Given the description of an element on the screen output the (x, y) to click on. 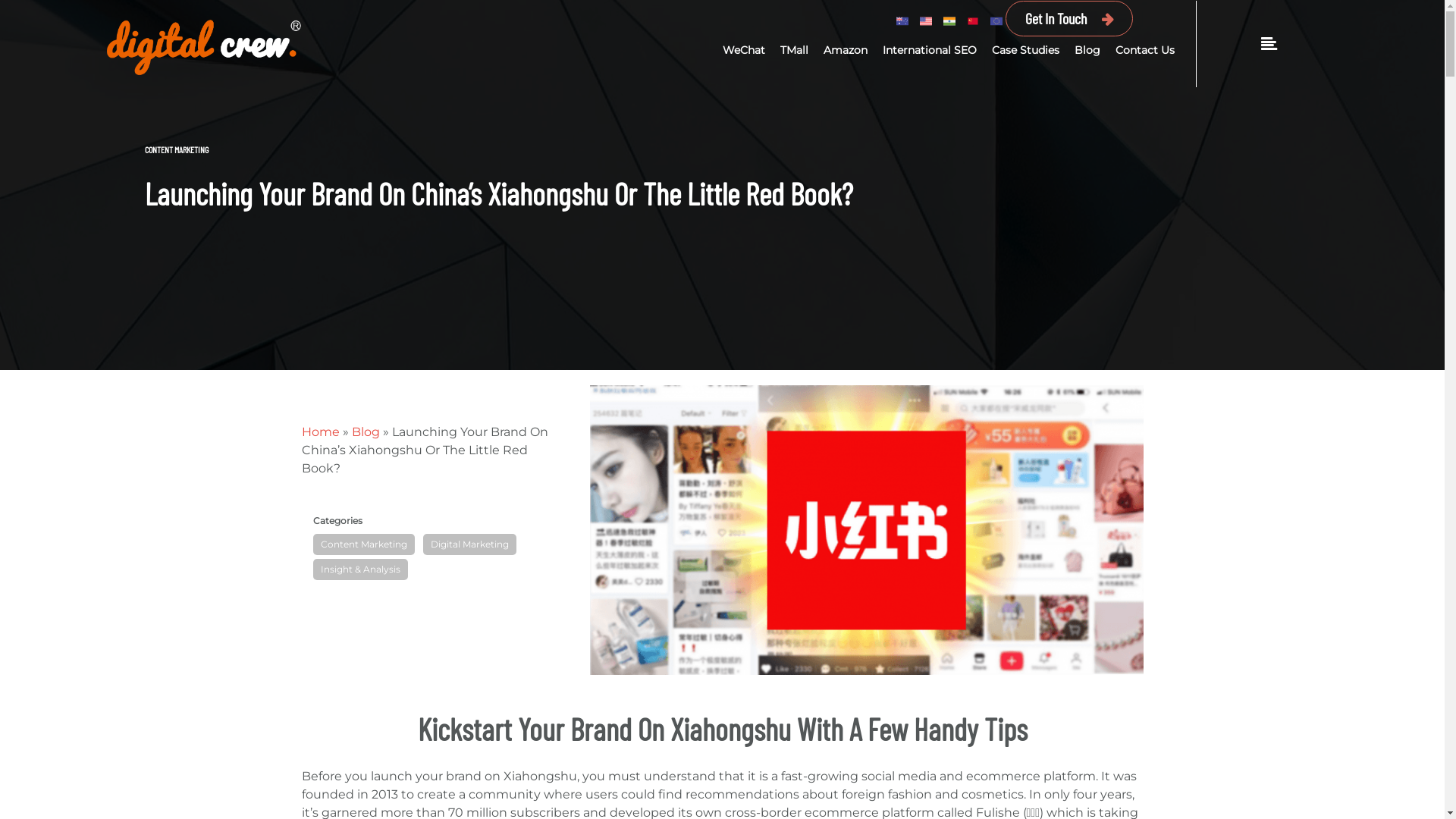
Blog Element type: text (365, 431)
Amazon Element type: text (845, 50)
Insight & Analysis Element type: text (359, 569)
Blog Element type: text (1087, 50)
Get In Touch Element type: text (1055, 18)
TMall Element type: text (794, 50)
Case Studies Element type: text (1025, 50)
WeChat Element type: text (743, 50)
International SEO Element type: text (929, 50)
Digital Marketing Element type: text (469, 544)
Contact Us Element type: text (1144, 50)
Get In Touch Element type: text (1068, 18)
Chatbot Element type: hover (1383, 757)
Content Marketing Element type: text (363, 544)
Home Element type: text (320, 431)
CONTENT MARKETING Element type: text (175, 149)
